Given the description of an element on the screen output the (x, y) to click on. 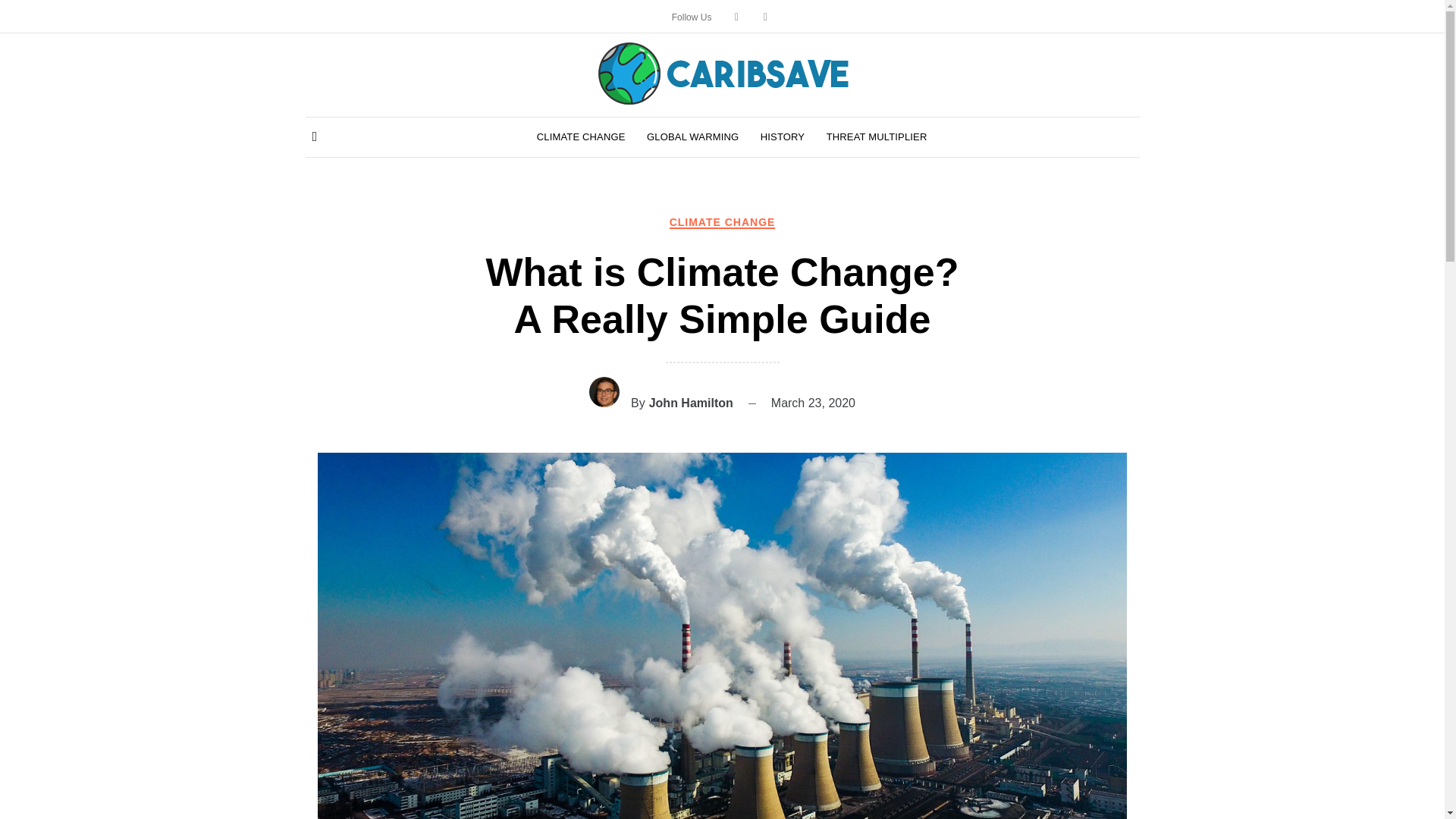
Logo (722, 72)
THREAT MULTIPLIER (877, 137)
John Hamilton (691, 401)
CLIMATE CHANGE (722, 222)
GLOBAL WARMING (692, 137)
HISTORY (782, 137)
CLIMATE CHANGE (581, 137)
